Given the description of an element on the screen output the (x, y) to click on. 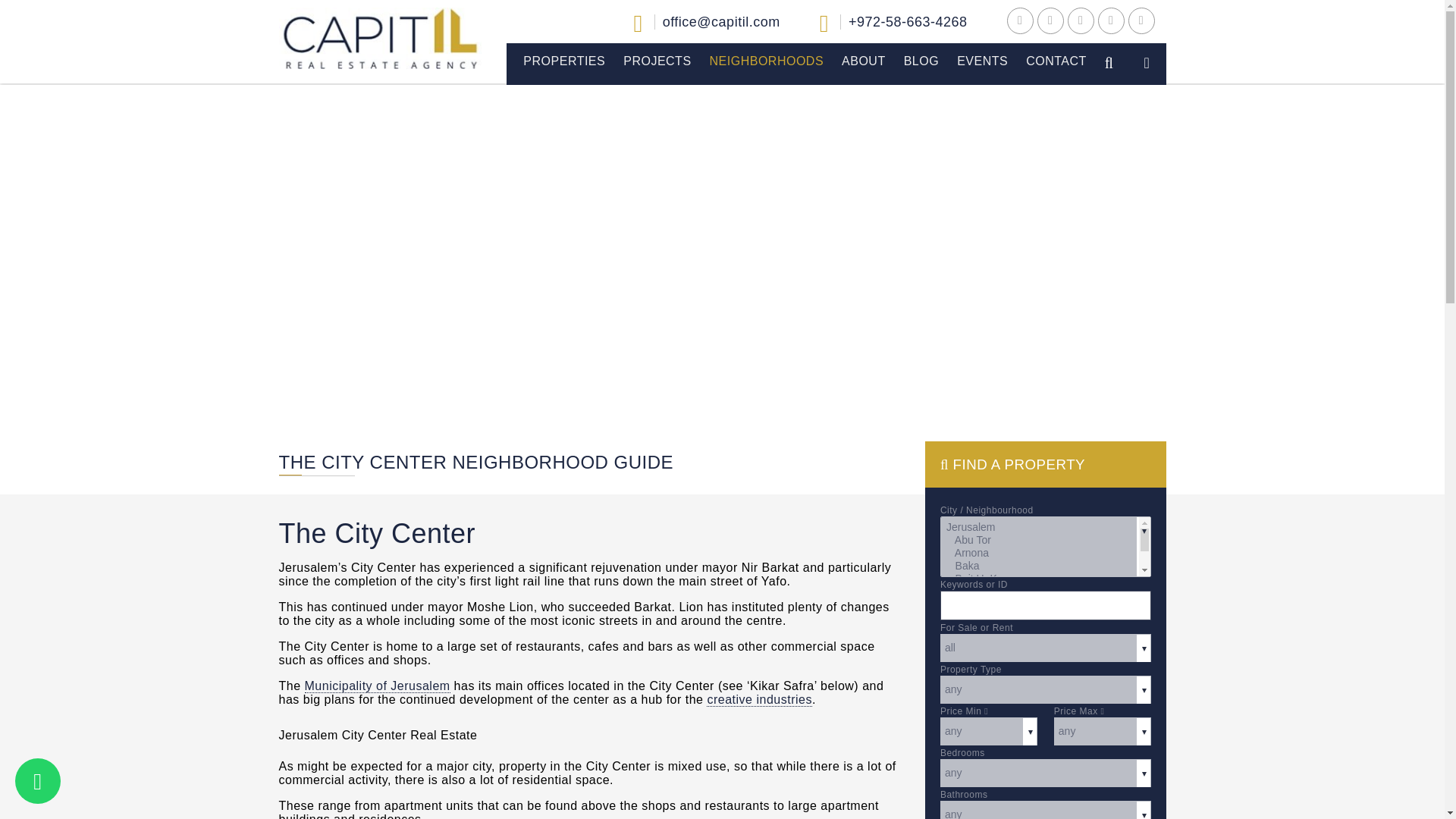
PROPERTIES (563, 61)
NEIGHBORHOODS (766, 61)
PROJECTS (657, 61)
